Given the description of an element on the screen output the (x, y) to click on. 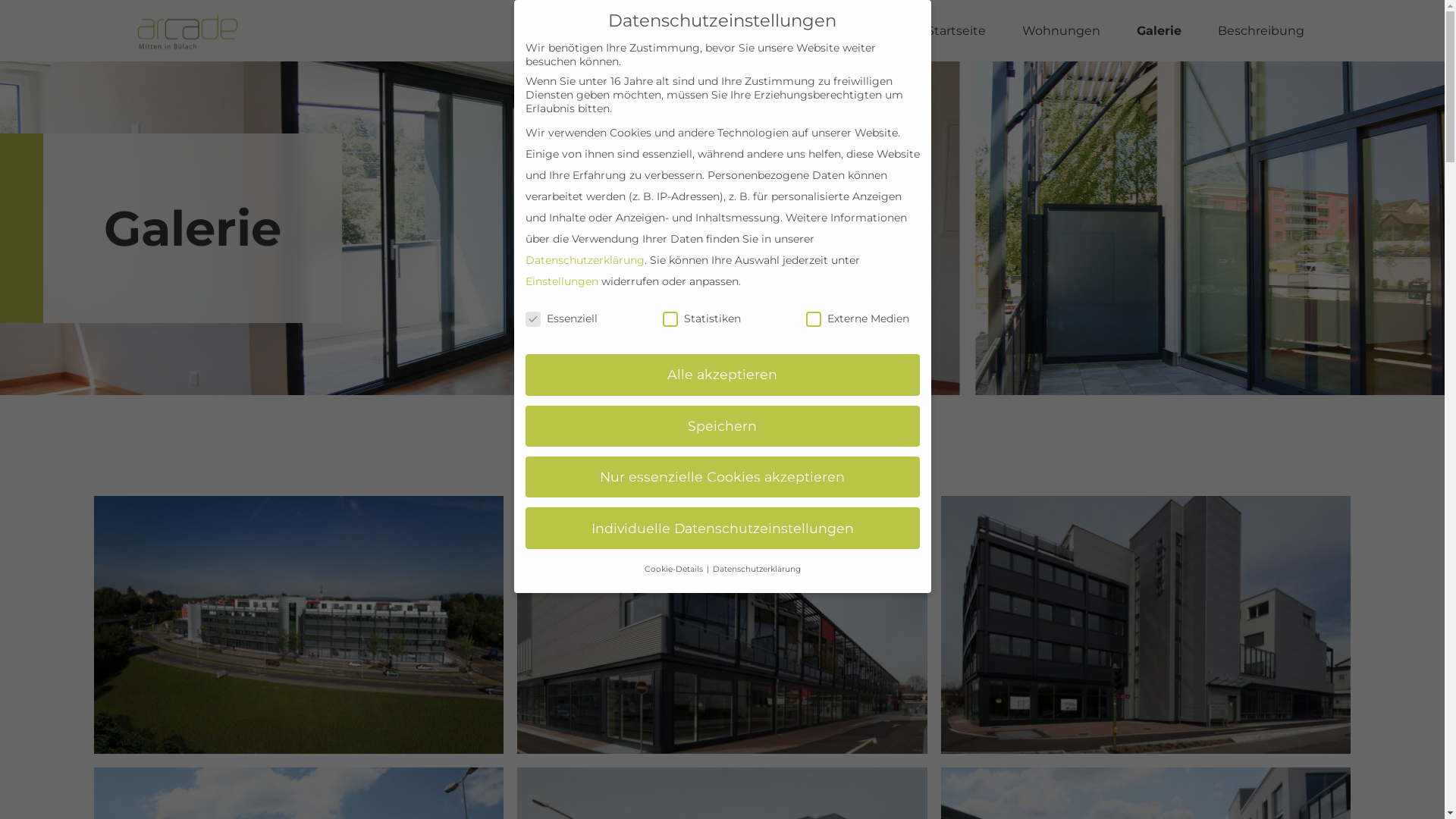
Beschreibung Element type: text (1260, 31)
Alle akzeptieren Element type: text (721, 374)
Einstellungen Element type: text (560, 281)
Individuelle Datenschutzeinstellungen Element type: text (721, 527)
Speichern Element type: text (721, 425)
Cookie-Details Element type: text (674, 569)
Wohnungen Element type: text (1061, 31)
Nur essenzielle Cookies akzeptieren Element type: text (721, 476)
Galerie Element type: text (1158, 31)
Startseite Element type: text (956, 31)
